Given the description of an element on the screen output the (x, y) to click on. 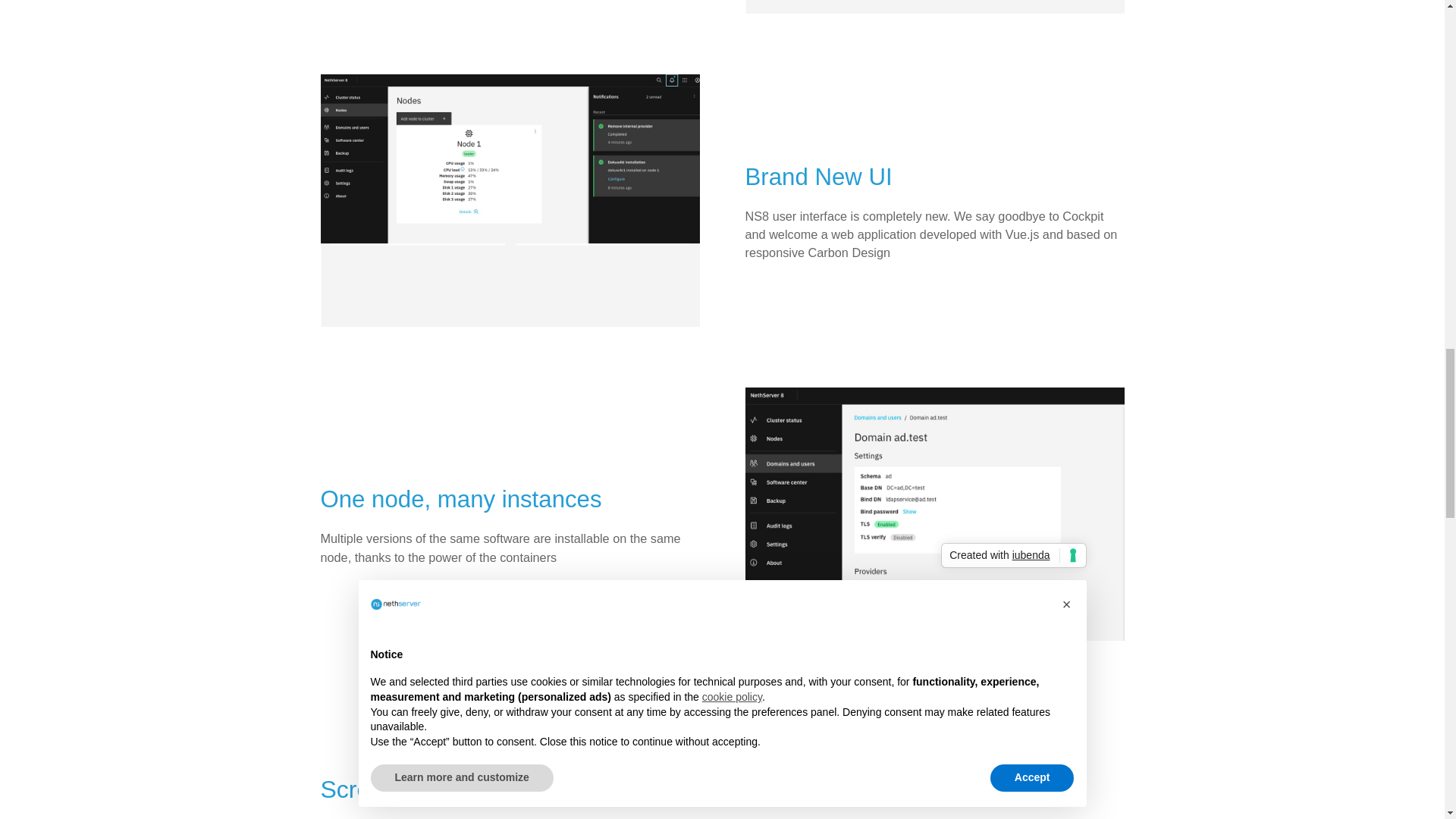
Read the Announcement (721, 687)
